Given the description of an element on the screen output the (x, y) to click on. 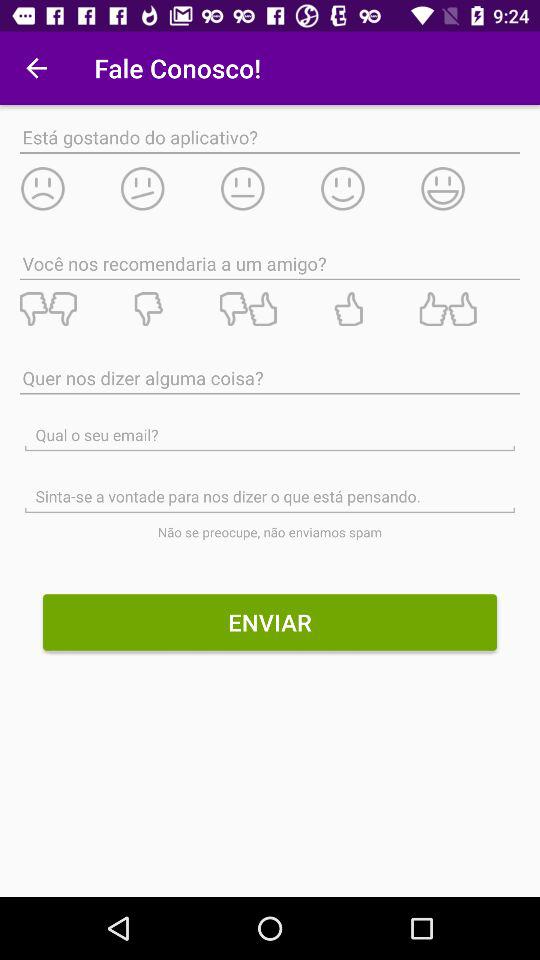
recommend to a friend (469, 309)
